Given the description of an element on the screen output the (x, y) to click on. 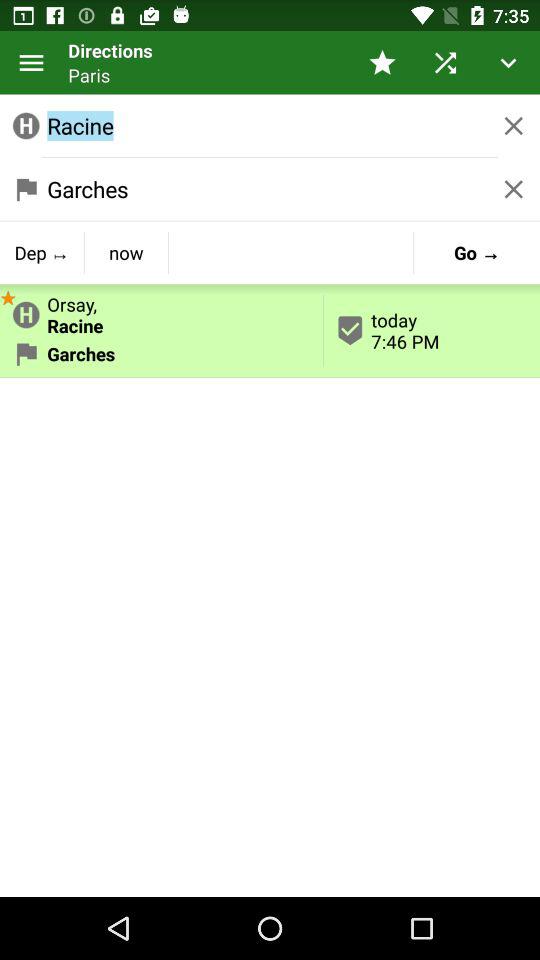
scroll until the now item (126, 252)
